Given the description of an element on the screen output the (x, y) to click on. 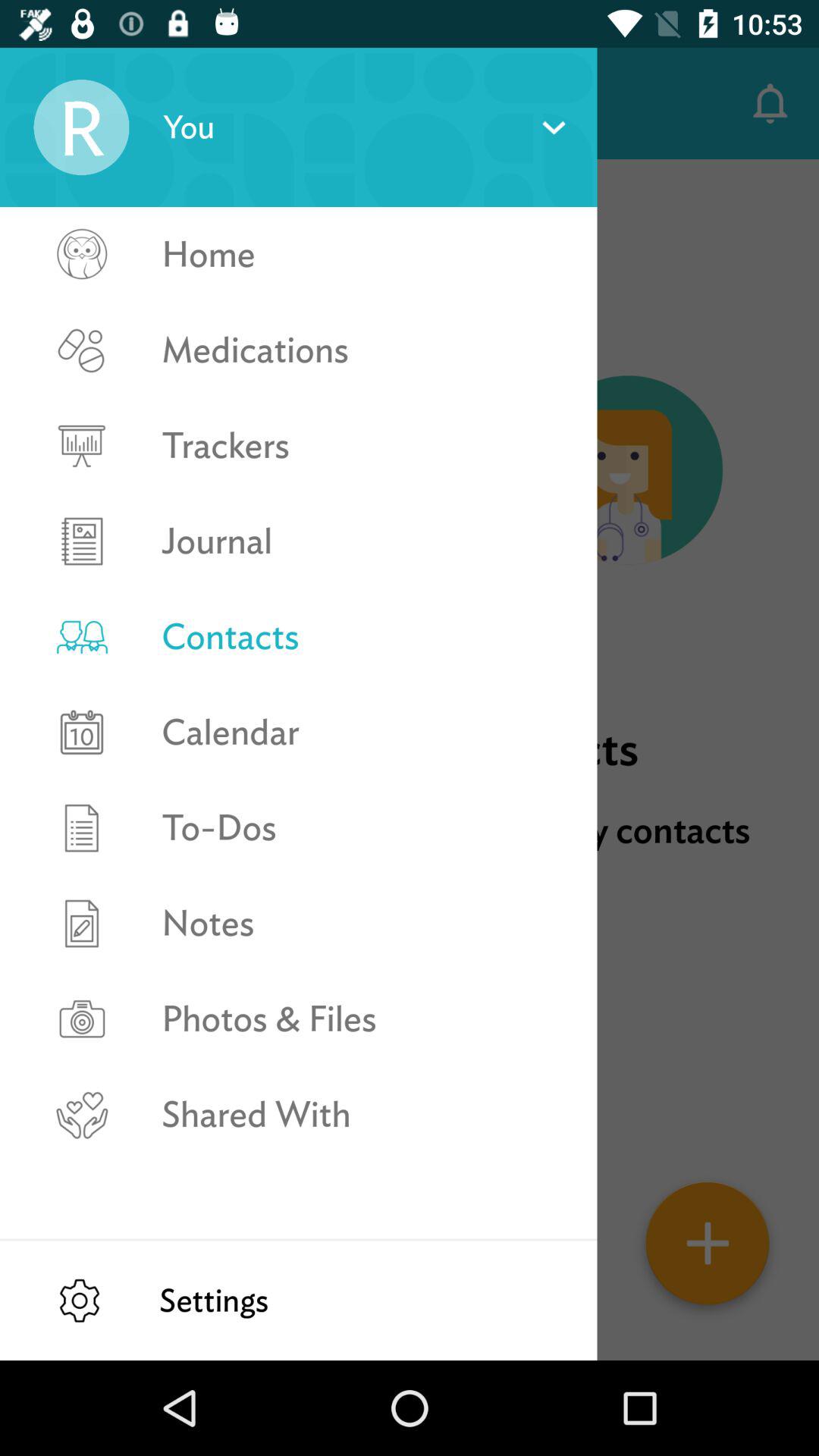
launch the item to the left of contacts (55, 103)
